Given the description of an element on the screen output the (x, y) to click on. 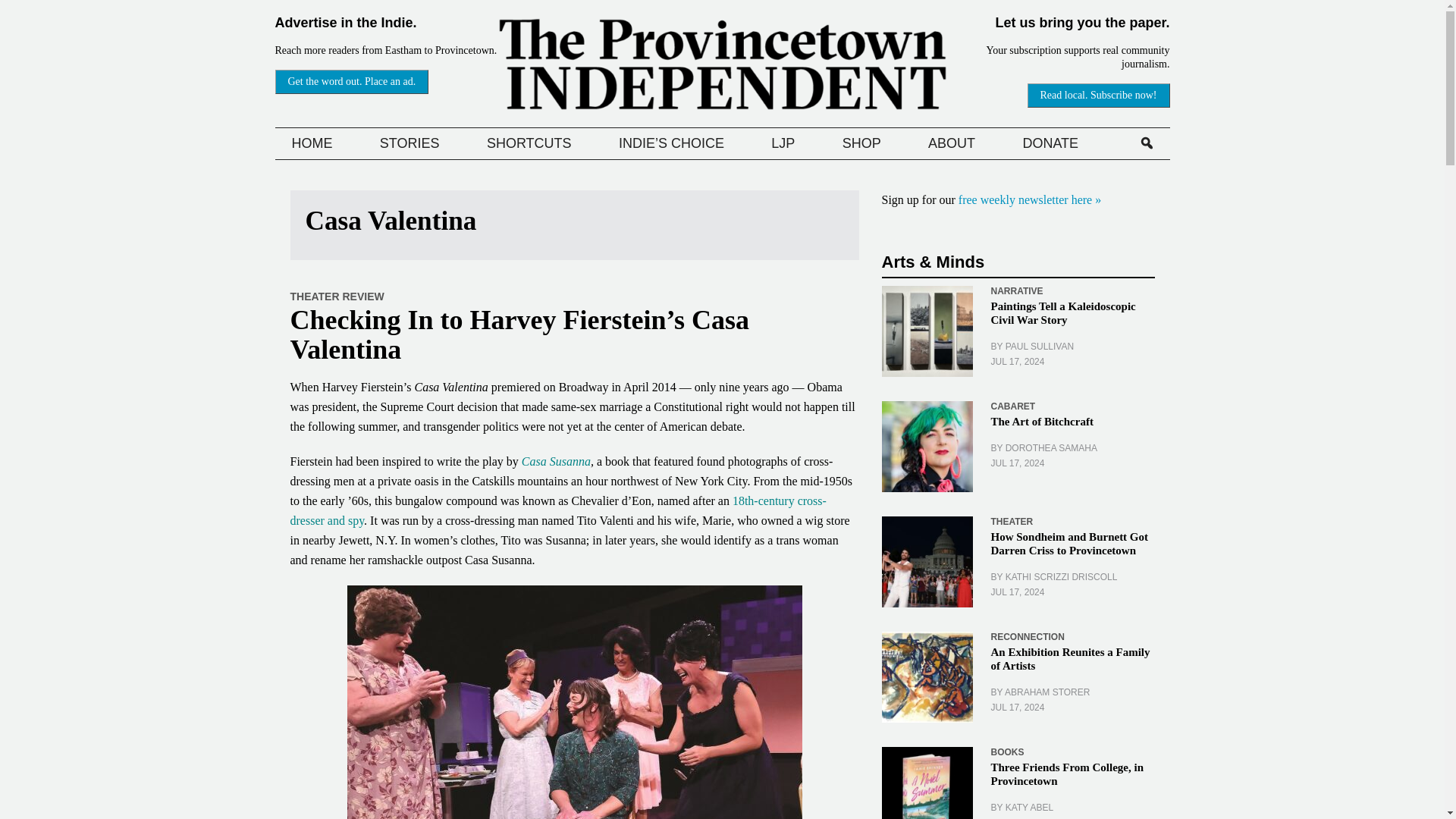
The Provincetown Independent (722, 63)
STORIES (409, 142)
DONATE (1050, 142)
More from this category (1006, 751)
More from this category (1027, 636)
Get the word out. Place an ad. (351, 81)
More from this category (1016, 290)
HOME (311, 142)
More from this category (1011, 521)
ABOUT (951, 142)
SHORTCUTS (528, 142)
SHOP (860, 142)
